Given the description of an element on the screen output the (x, y) to click on. 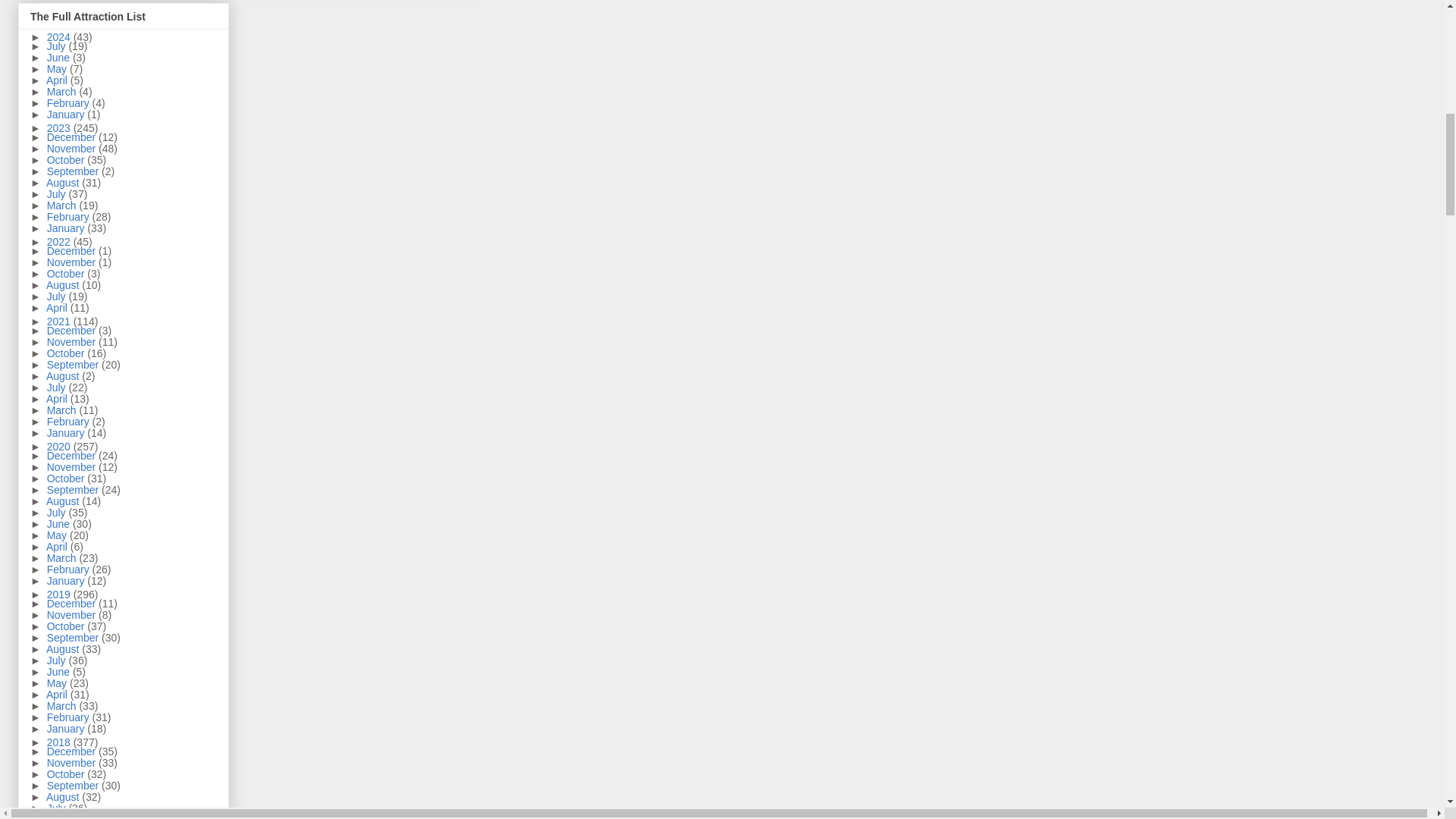
2024 (60, 37)
January (66, 114)
March (63, 91)
April (57, 80)
May (57, 69)
July (57, 46)
February (69, 102)
June (59, 57)
2023 (60, 128)
November (72, 148)
December (72, 137)
